Given the description of an element on the screen output the (x, y) to click on. 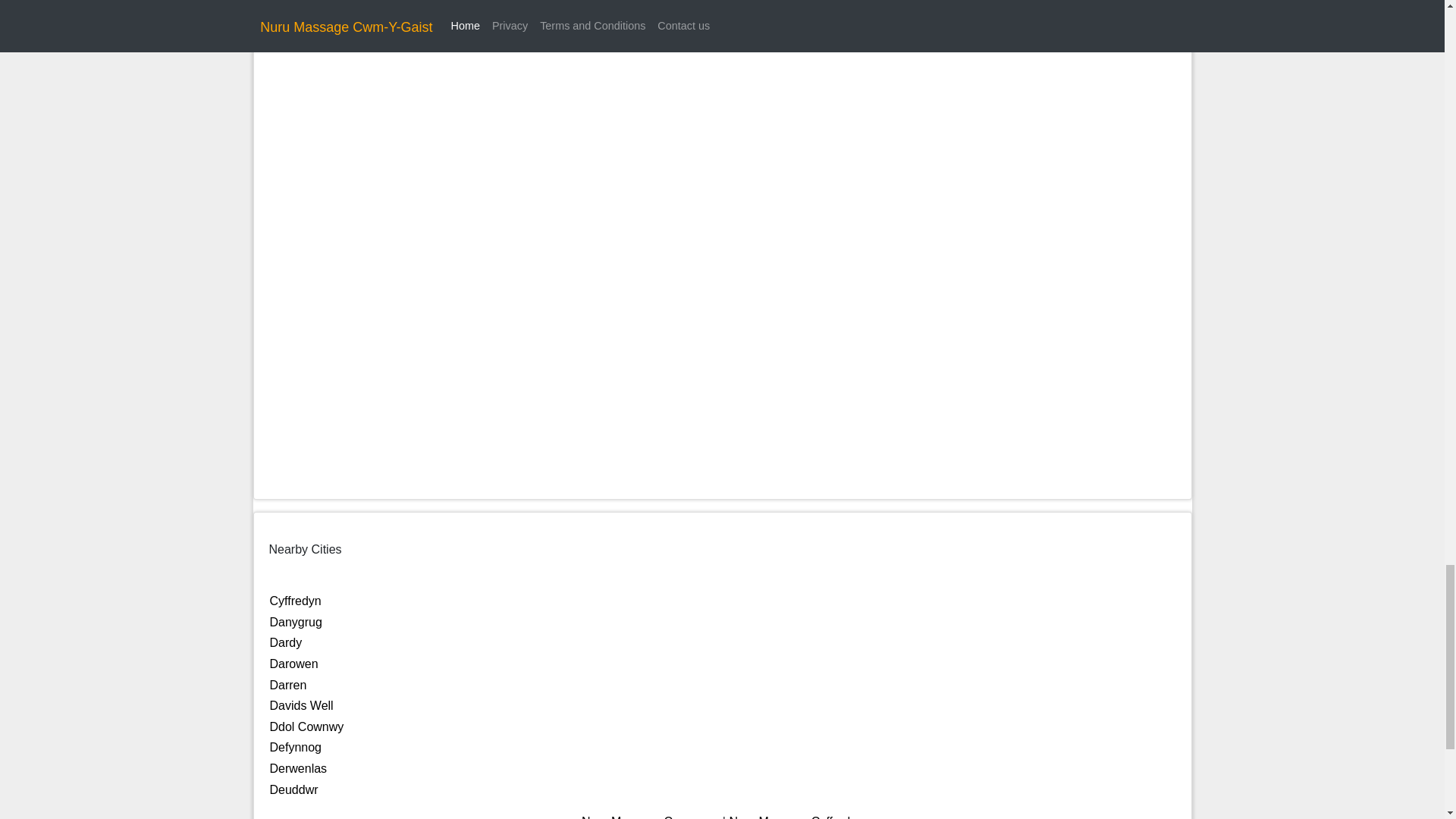
Darren (288, 684)
Derwenlas (298, 768)
Danygrug (295, 621)
Darowen (293, 663)
Dardy (285, 642)
Nuru Massage Cyffredyn (796, 816)
Ddol Cownwy (306, 726)
Cyffredyn (295, 600)
Deuddwr (293, 789)
Defynnog (295, 747)
Davids Well (301, 705)
Nuru Massage Cwmwysg (649, 816)
